Given the description of an element on the screen output the (x, y) to click on. 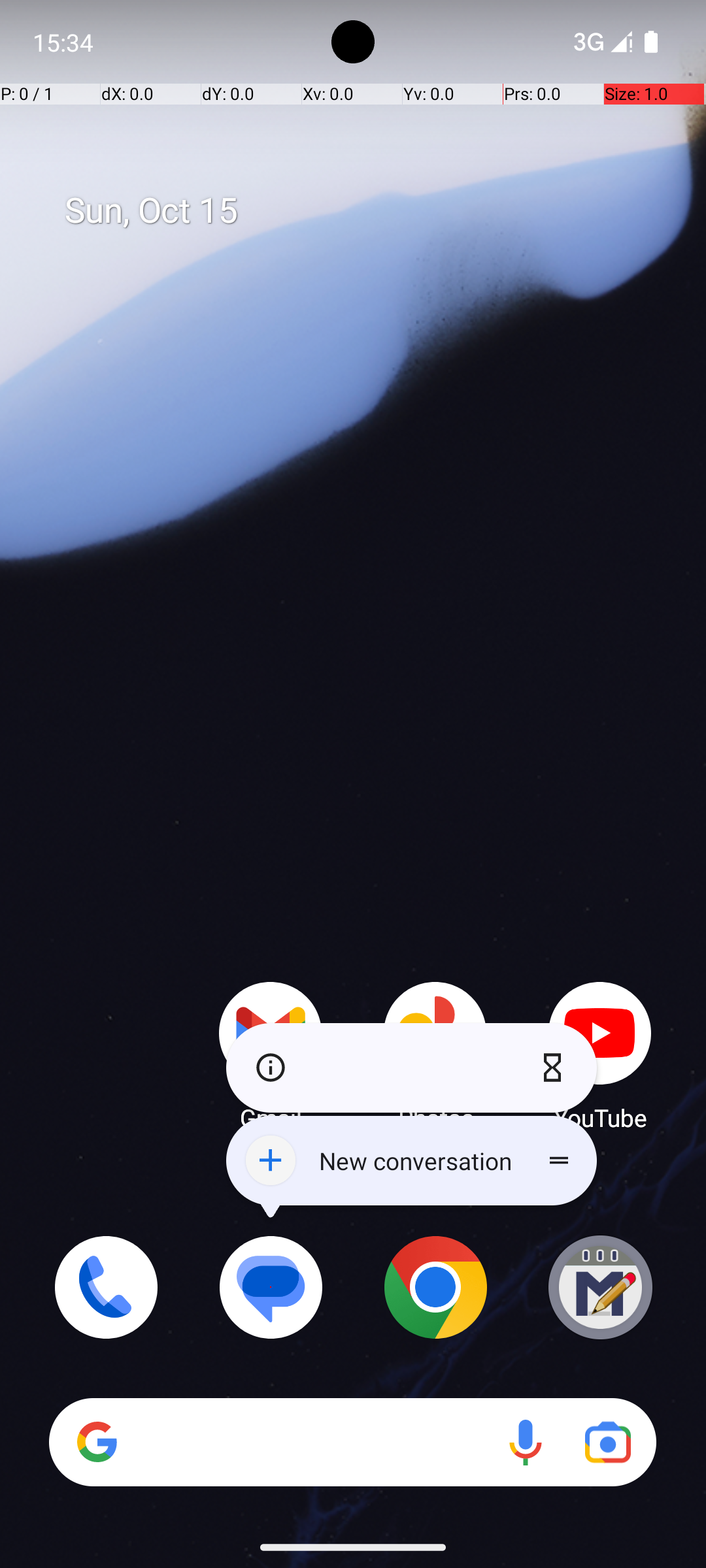
App info Element type: android.widget.ImageView (267, 1067)
Pause app Element type: android.widget.ImageView (555, 1067)
New conversation Element type: android.widget.TextView (411, 1160)
